Given the description of an element on the screen output the (x, y) to click on. 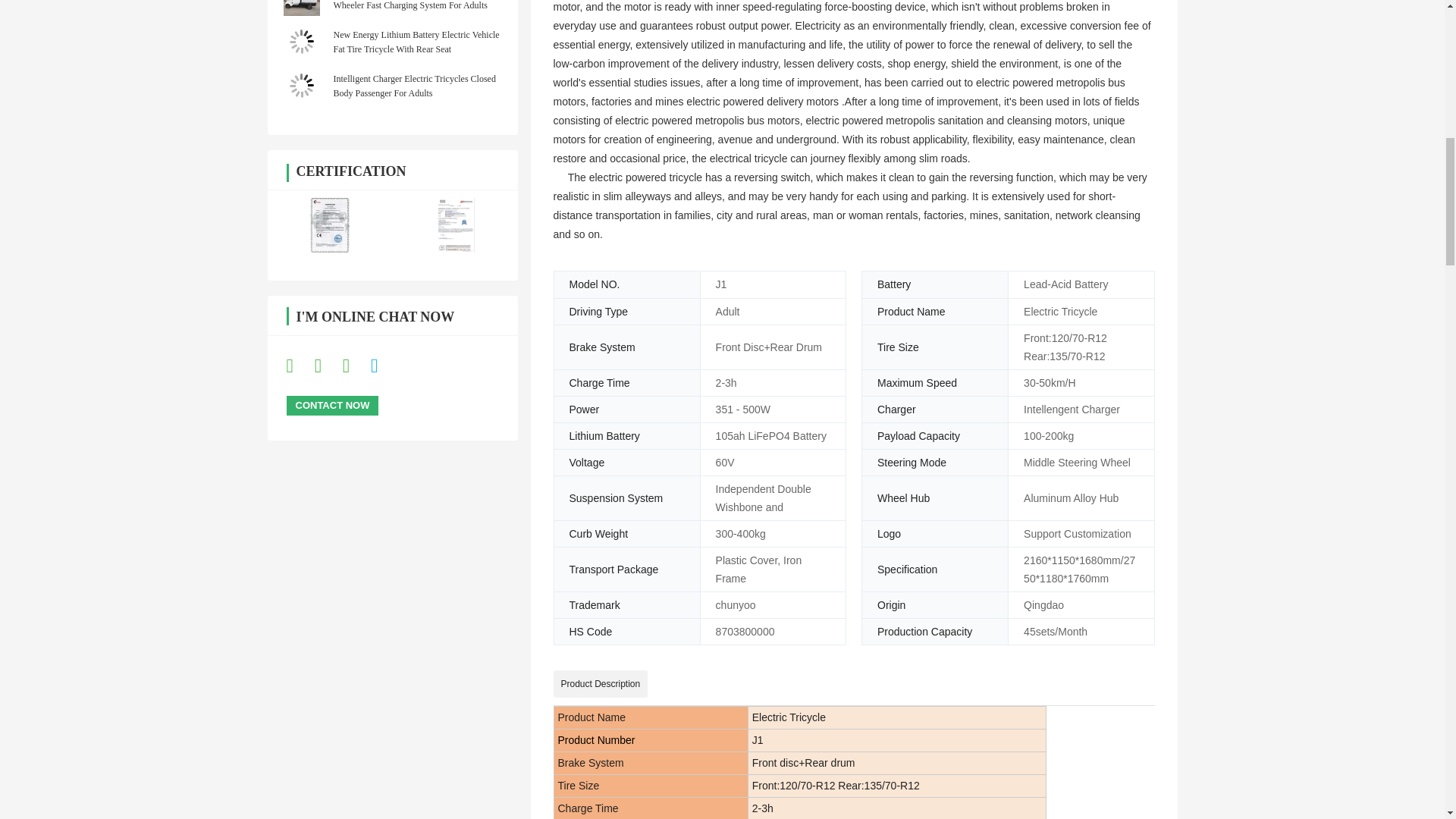
Contact Now (332, 405)
